Given the description of an element on the screen output the (x, y) to click on. 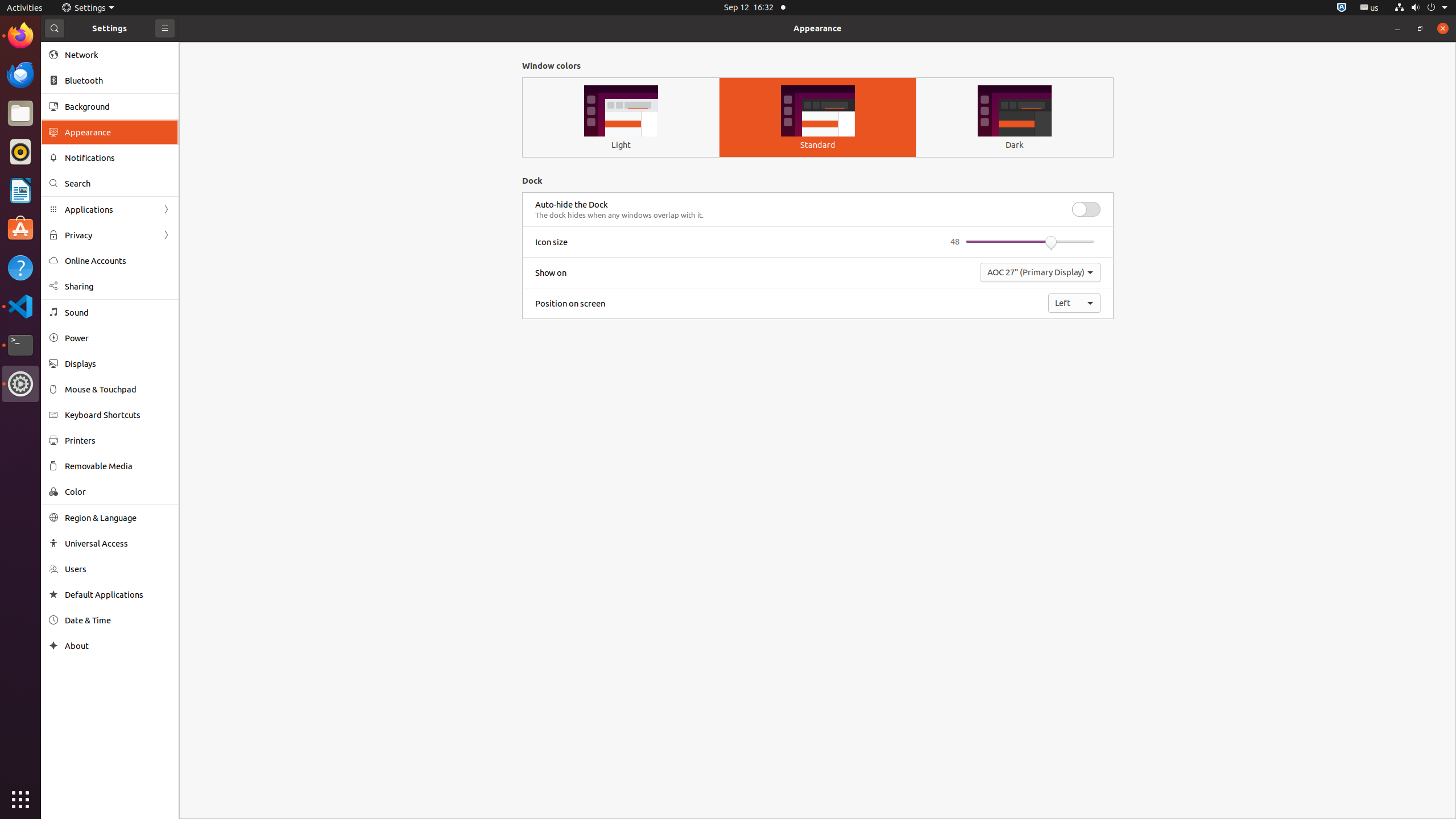
Applications Element type: label (109, 209)
Light Element type: label (621, 144)
